Given the description of an element on the screen output the (x, y) to click on. 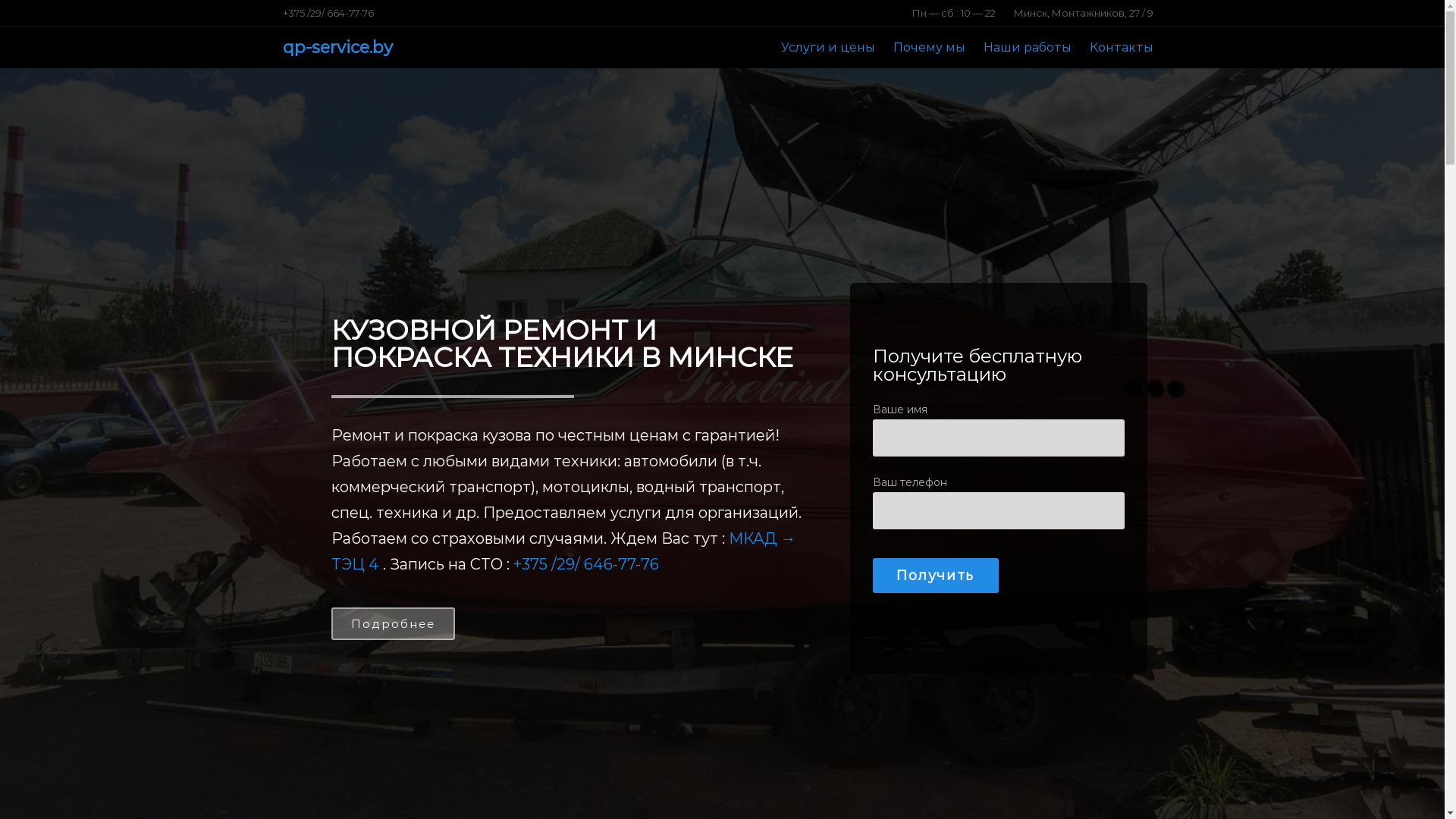
+375 /29/ 646-77-76 Element type: text (585, 564)
qp-service.by Element type: text (337, 47)
+375 /29/ 664-77-76 Element type: text (327, 12)
